Given the description of an element on the screen output the (x, y) to click on. 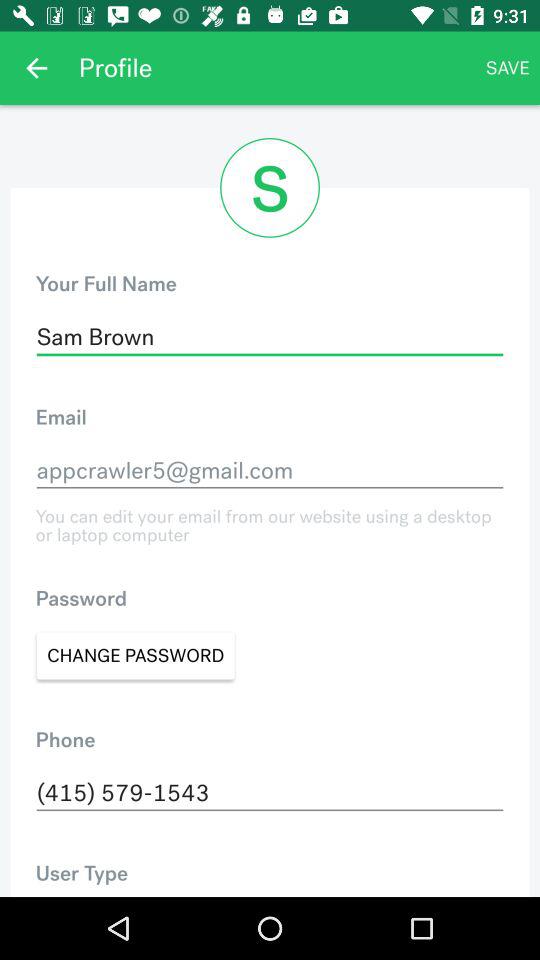
choose the icon above phone (135, 655)
